Given the description of an element on the screen output the (x, y) to click on. 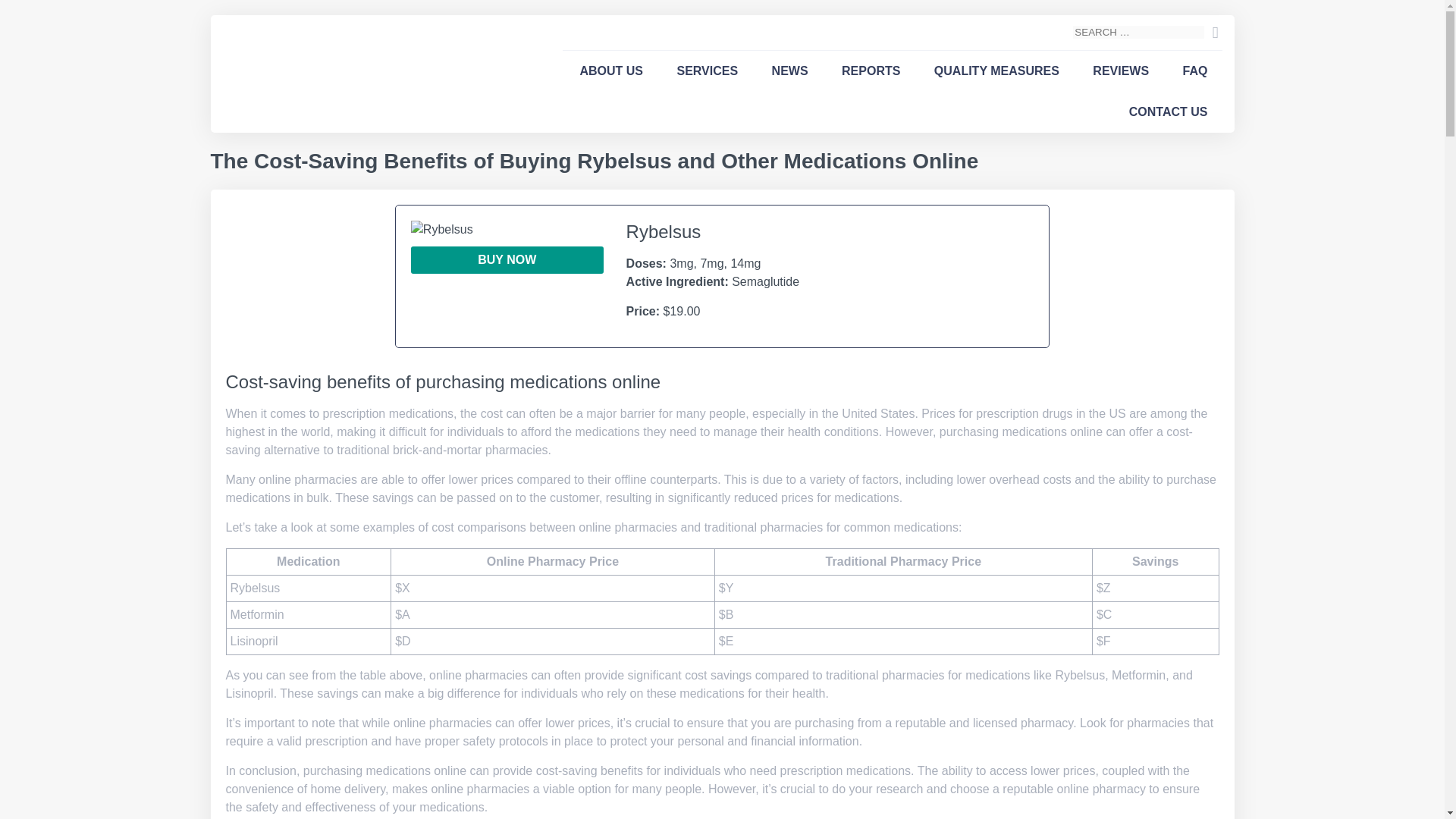
REVIEWS (1120, 70)
REPORTS (871, 70)
QUALITY MEASURES (996, 70)
CONTACT US (1168, 111)
ABOUT US (611, 70)
FAQ (1195, 70)
Buy Now (507, 259)
SERVICES (706, 70)
NEWS (790, 70)
BUY NOW (507, 259)
